Given the description of an element on the screen output the (x, y) to click on. 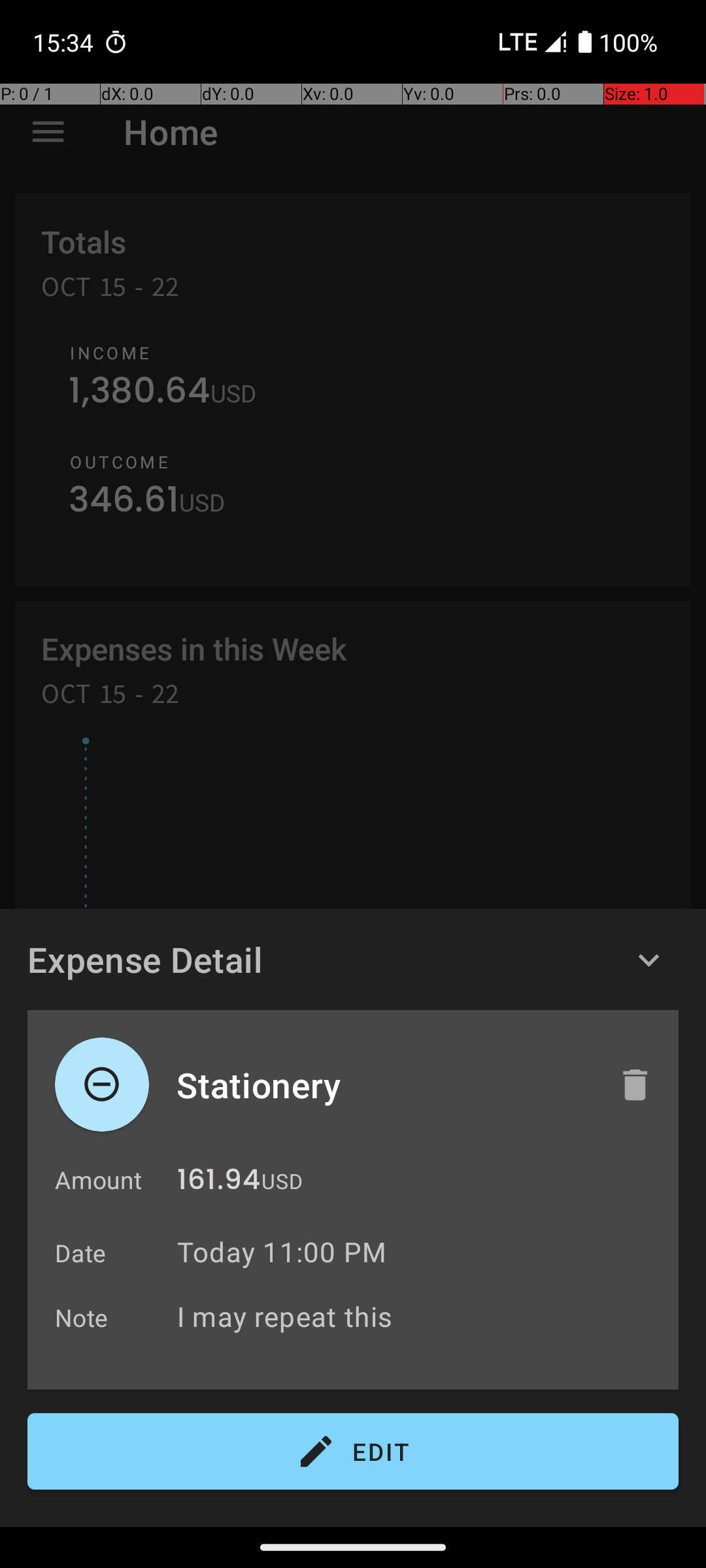
Stationery Element type: android.widget.TextView (383, 1084)
161.94 Element type: android.widget.TextView (218, 1182)
Today 11:00 PM Element type: android.widget.TextView (281, 1251)
